Given the description of an element on the screen output the (x, y) to click on. 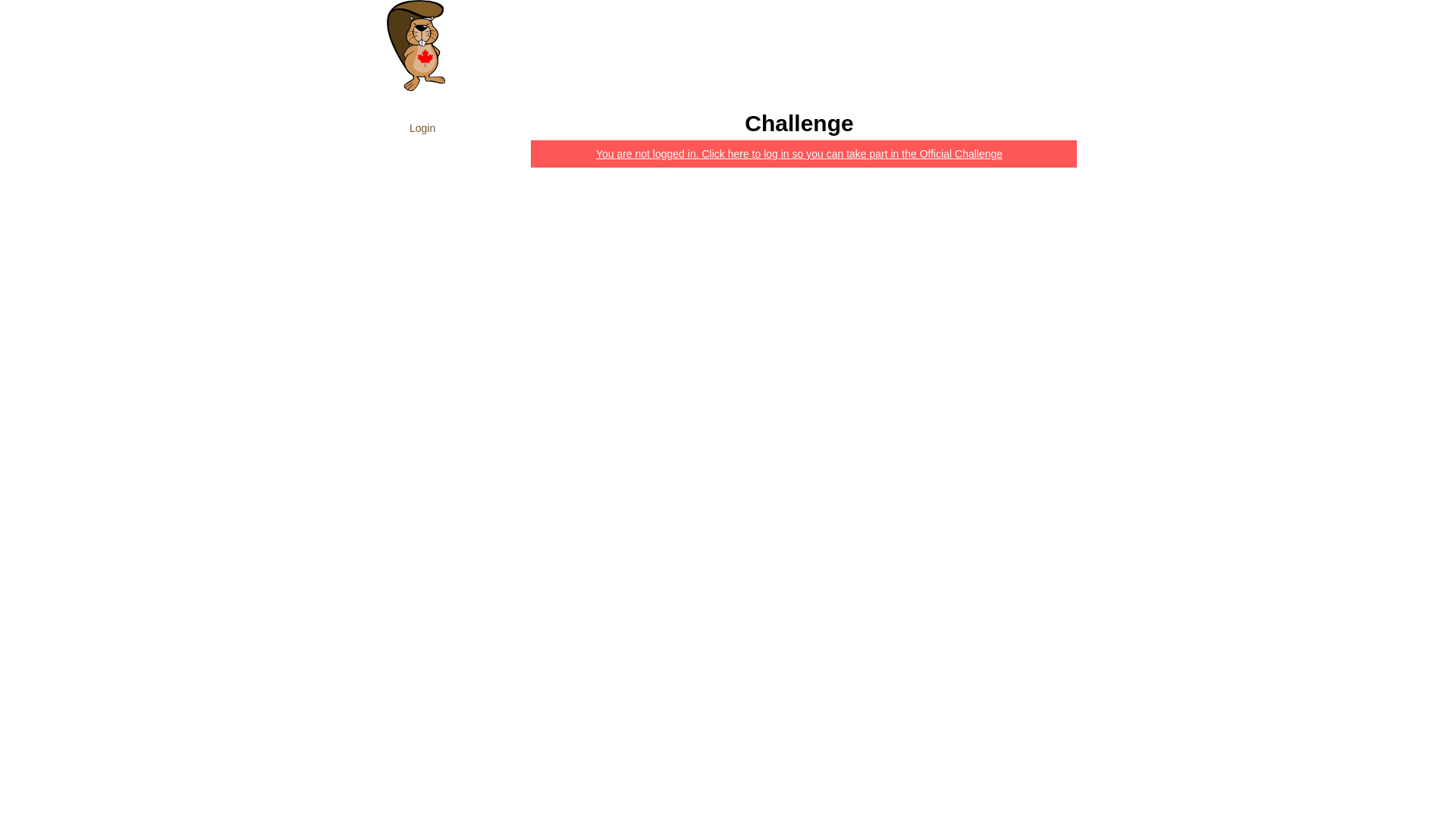
Challenge Element type: text (1031, 47)
Login Element type: text (1056, 9)
Login Element type: text (468, 128)
Welcome Element type: text (963, 47)
